Given the description of an element on the screen output the (x, y) to click on. 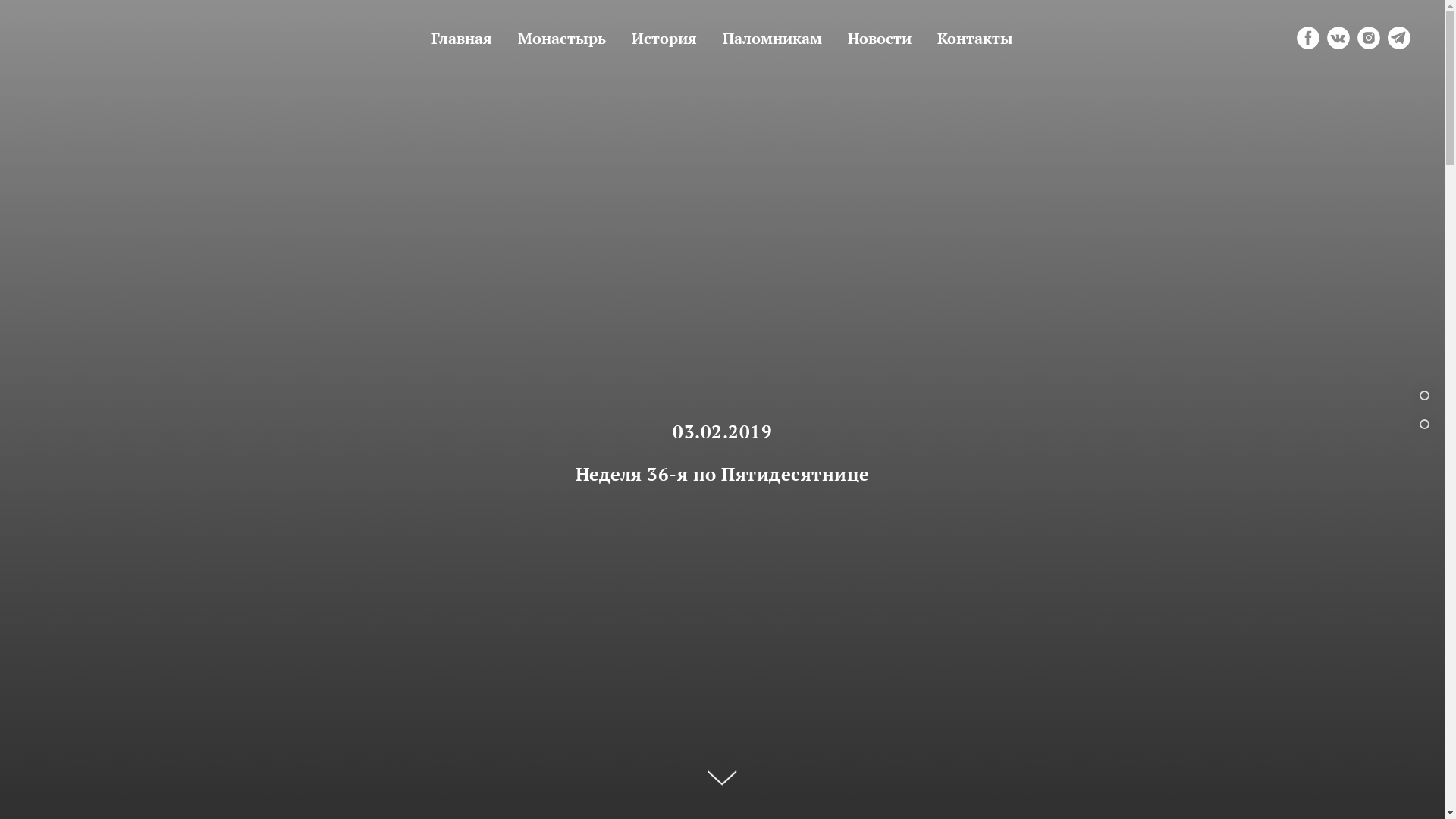
Instagram Element type: text (1368, 37)
Telegram Element type: text (1398, 37)
